Given the description of an element on the screen output the (x, y) to click on. 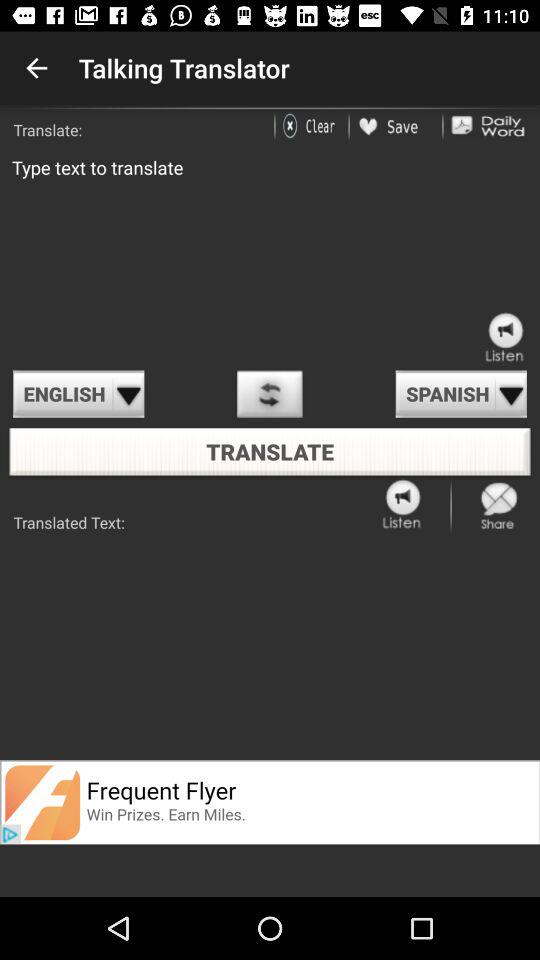
type what to translate (269, 254)
